Given the description of an element on the screen output the (x, y) to click on. 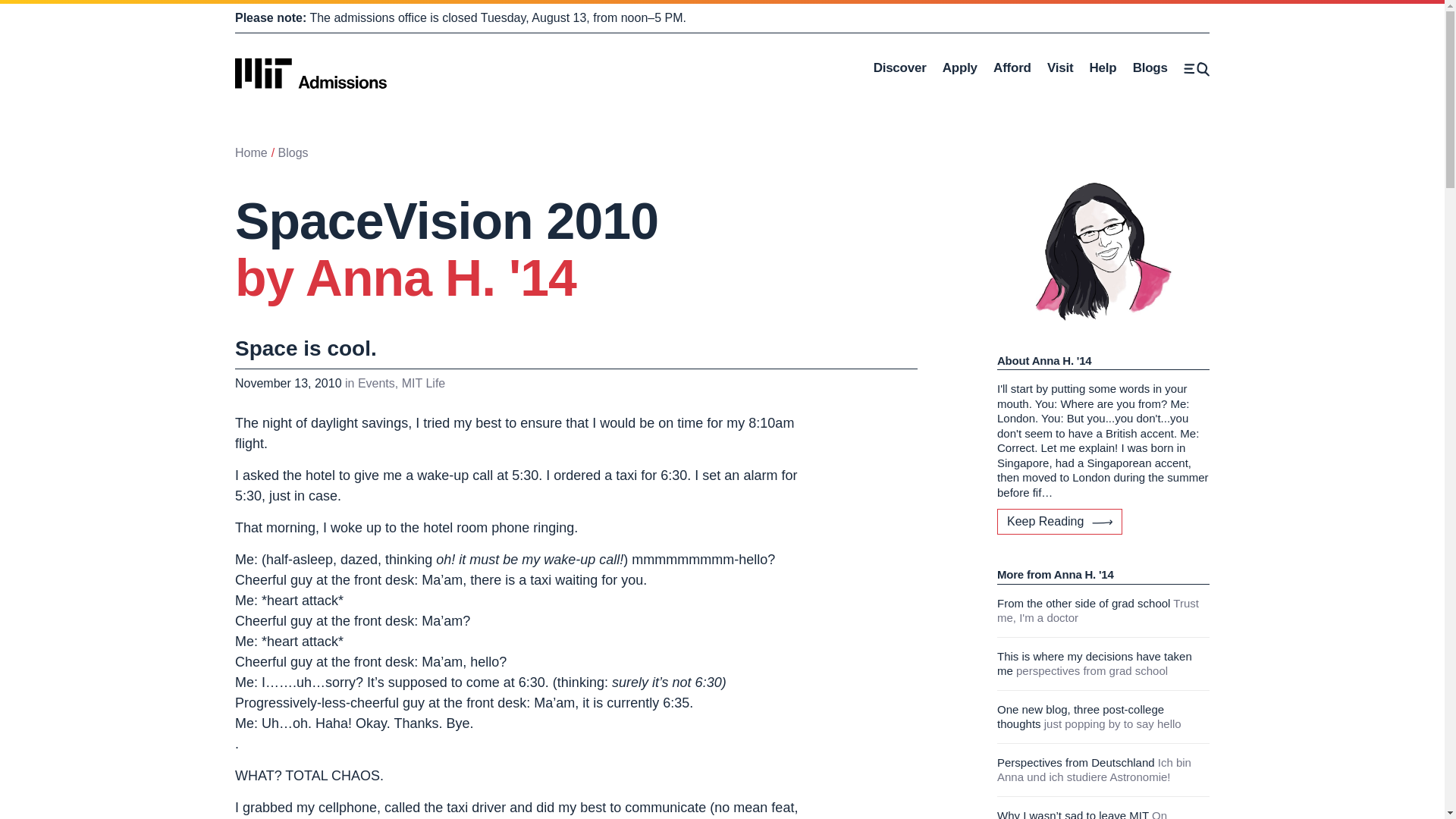
Discover (899, 68)
An arrow pointing right (1196, 67)
Home (1102, 521)
Blogs (250, 152)
Afford (1149, 68)
Events (1011, 68)
Blogs (376, 382)
MIT logo (293, 152)
Visit (310, 67)
